Given the description of an element on the screen output the (x, y) to click on. 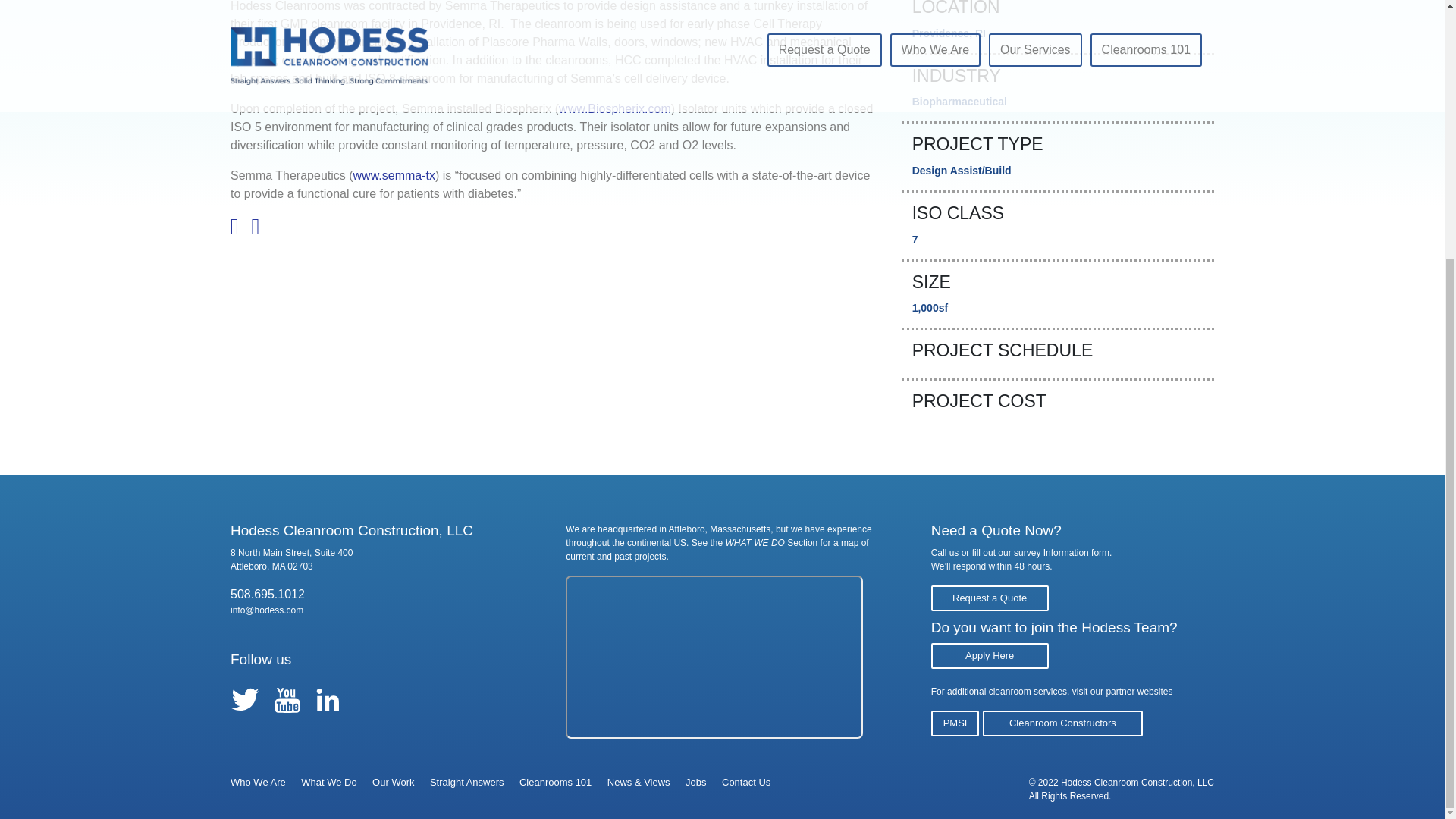
PMSI (955, 723)
Request a Quote (989, 597)
Straight Answers (466, 781)
Request a Quote (989, 596)
WHAT WE DO (754, 542)
Cleanroom Constructors (1062, 721)
Apply Here (989, 654)
Apply Here (989, 655)
Cleanrooms 101 (555, 781)
What We Do (328, 781)
